Given the description of an element on the screen output the (x, y) to click on. 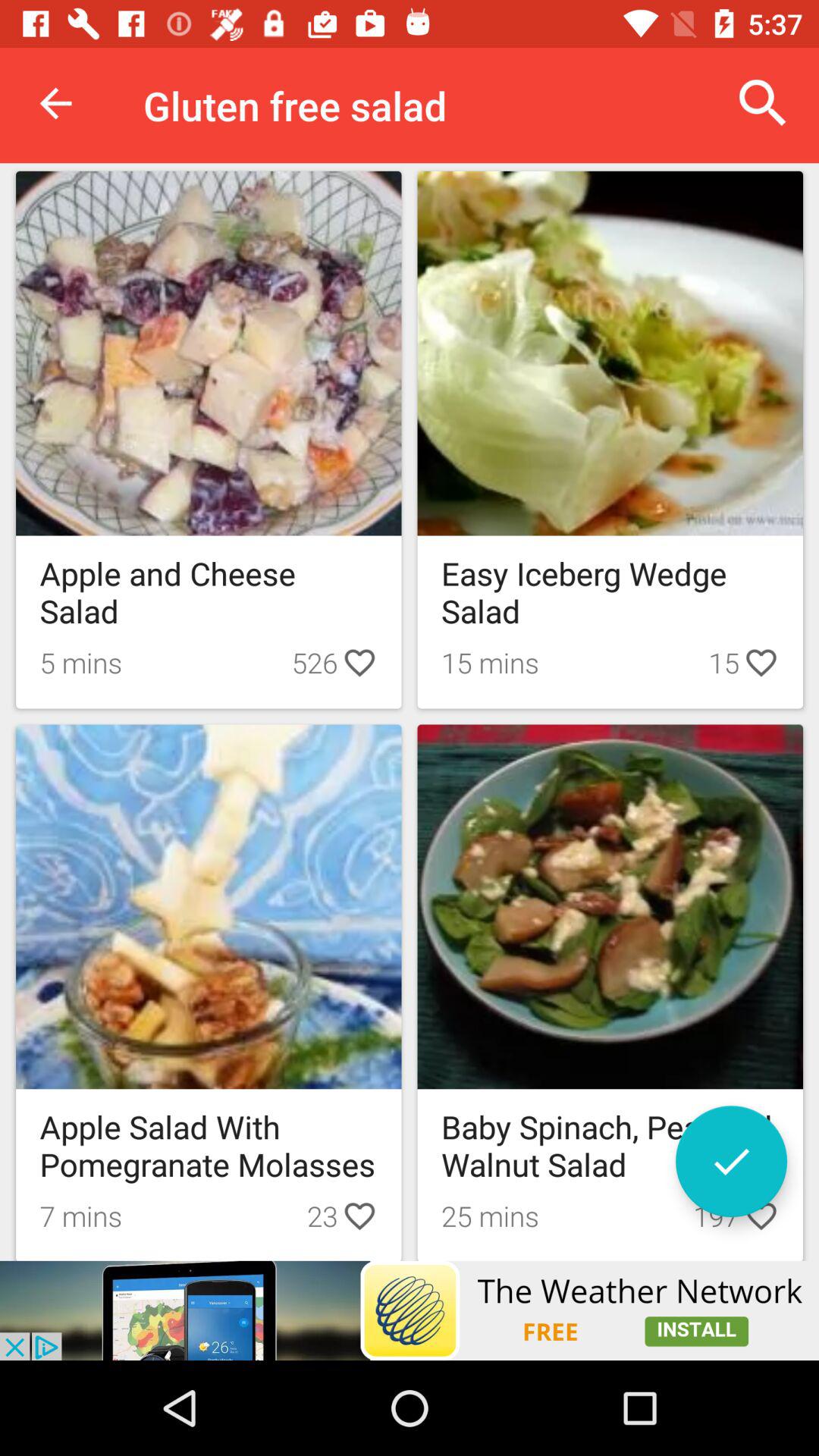
advertisement click to install the weather network app (409, 1310)
